Given the description of an element on the screen output the (x, y) to click on. 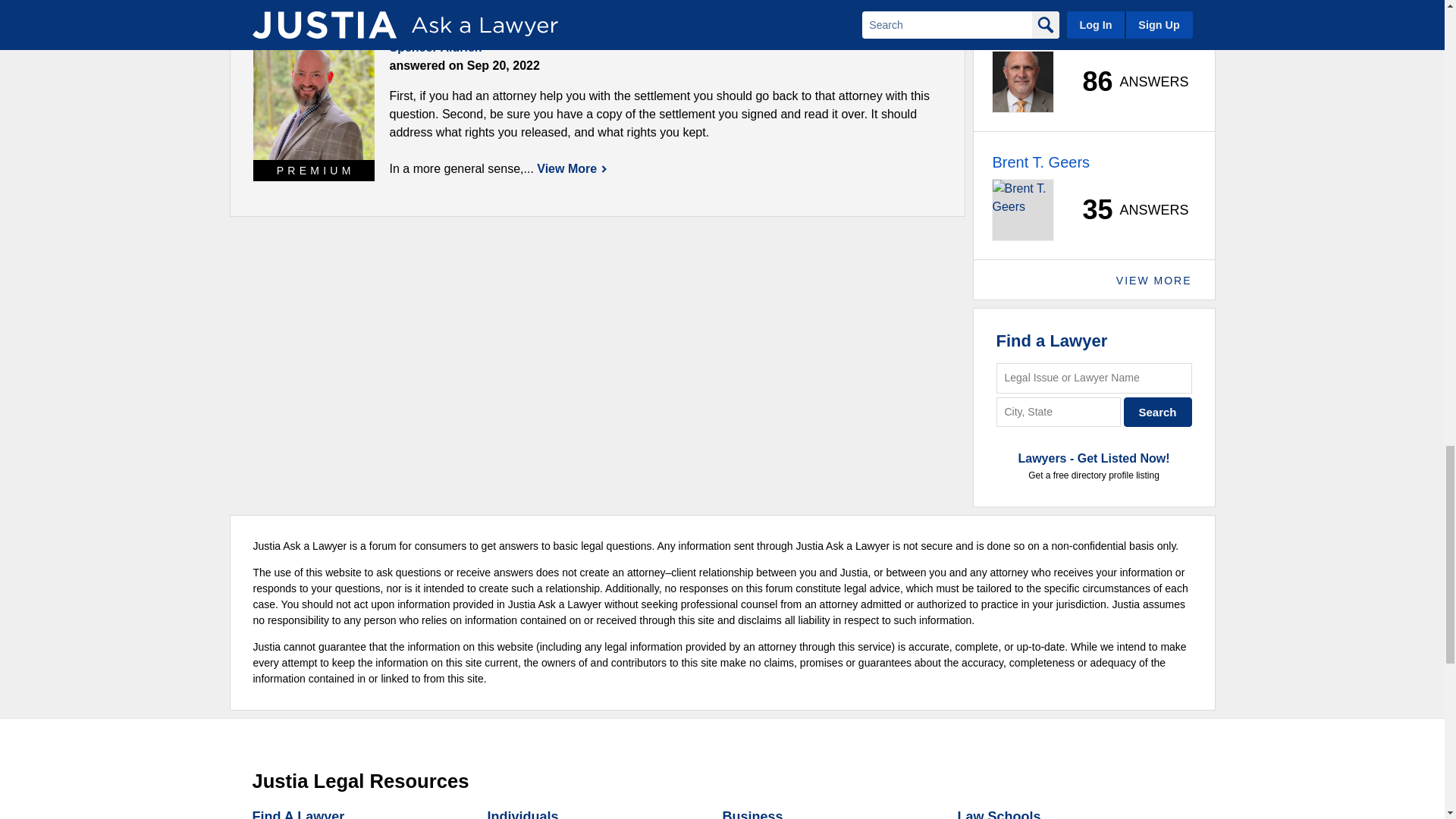
Search (1158, 411)
Search (1158, 411)
Spencer  Aldrich (313, 98)
